Given the description of an element on the screen output the (x, y) to click on. 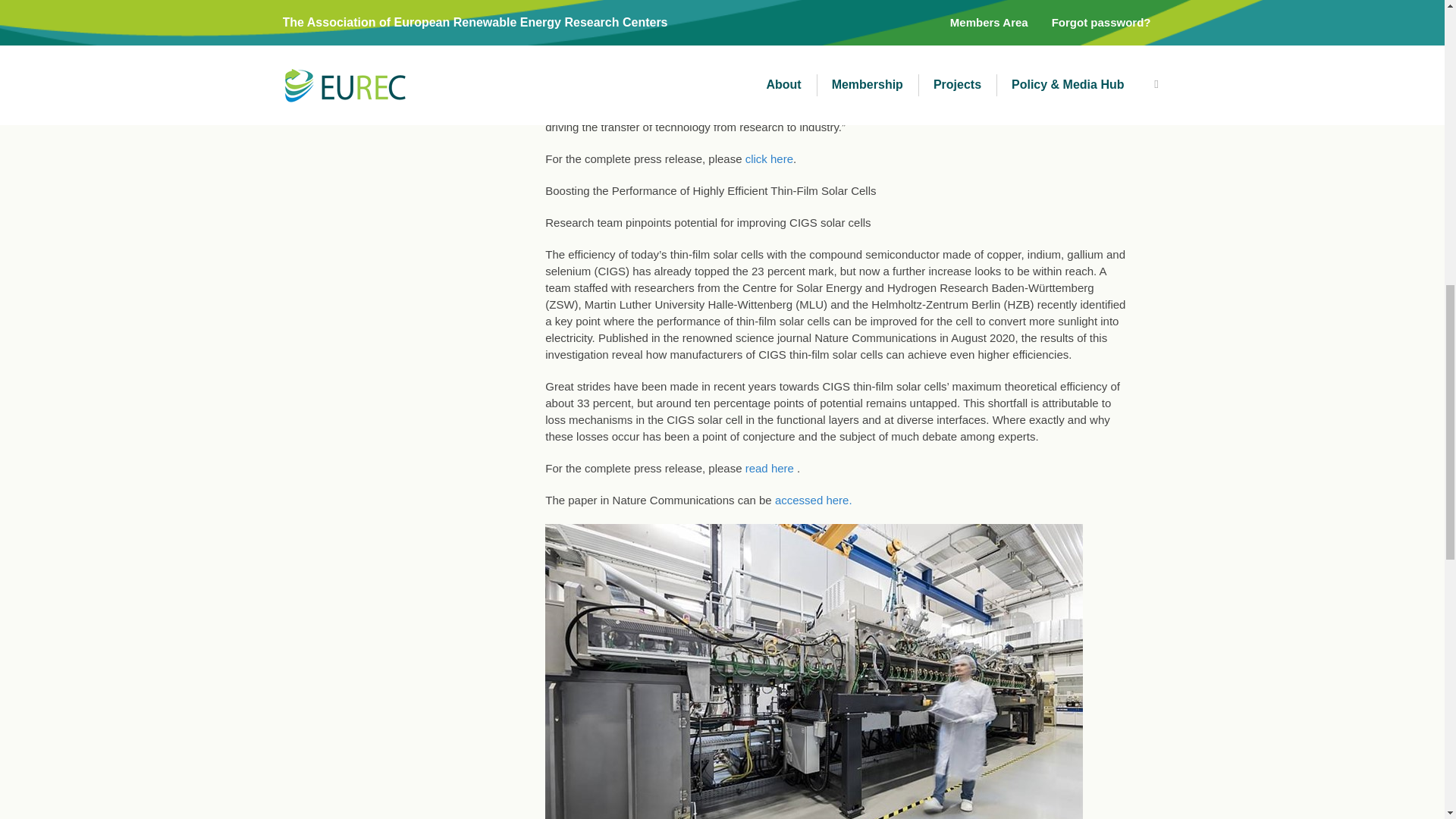
accessed here. (812, 499)
click here (769, 158)
read here (769, 468)
